Given the description of an element on the screen output the (x, y) to click on. 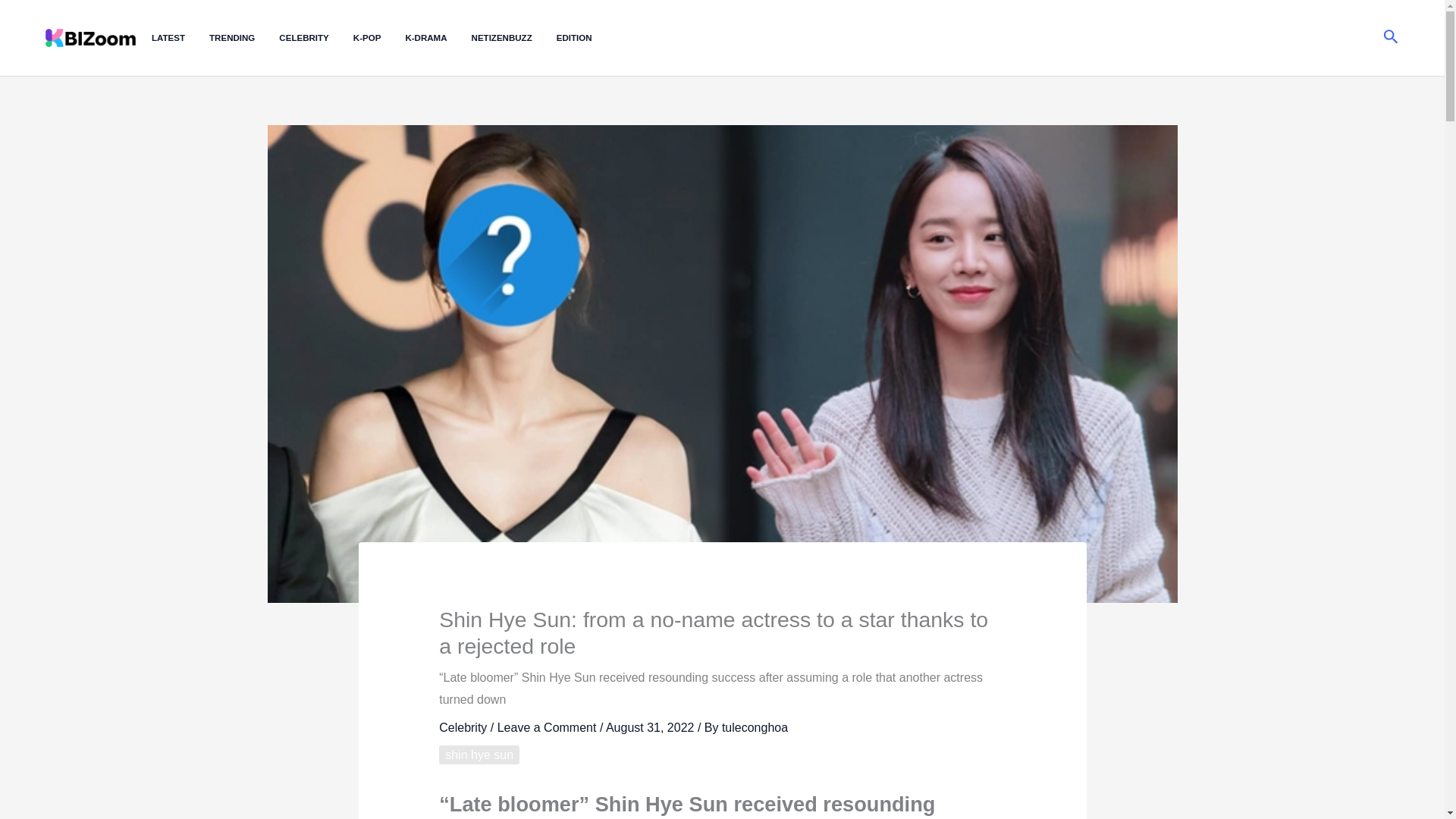
tuleconghoa (754, 727)
Celebrity (462, 727)
CELEBRITY (315, 38)
View all posts by tuleconghoa (754, 727)
shin hye sun (479, 754)
Leave a Comment (546, 727)
NETIZENBUZZ (513, 38)
TRENDING (244, 38)
